Given the description of an element on the screen output the (x, y) to click on. 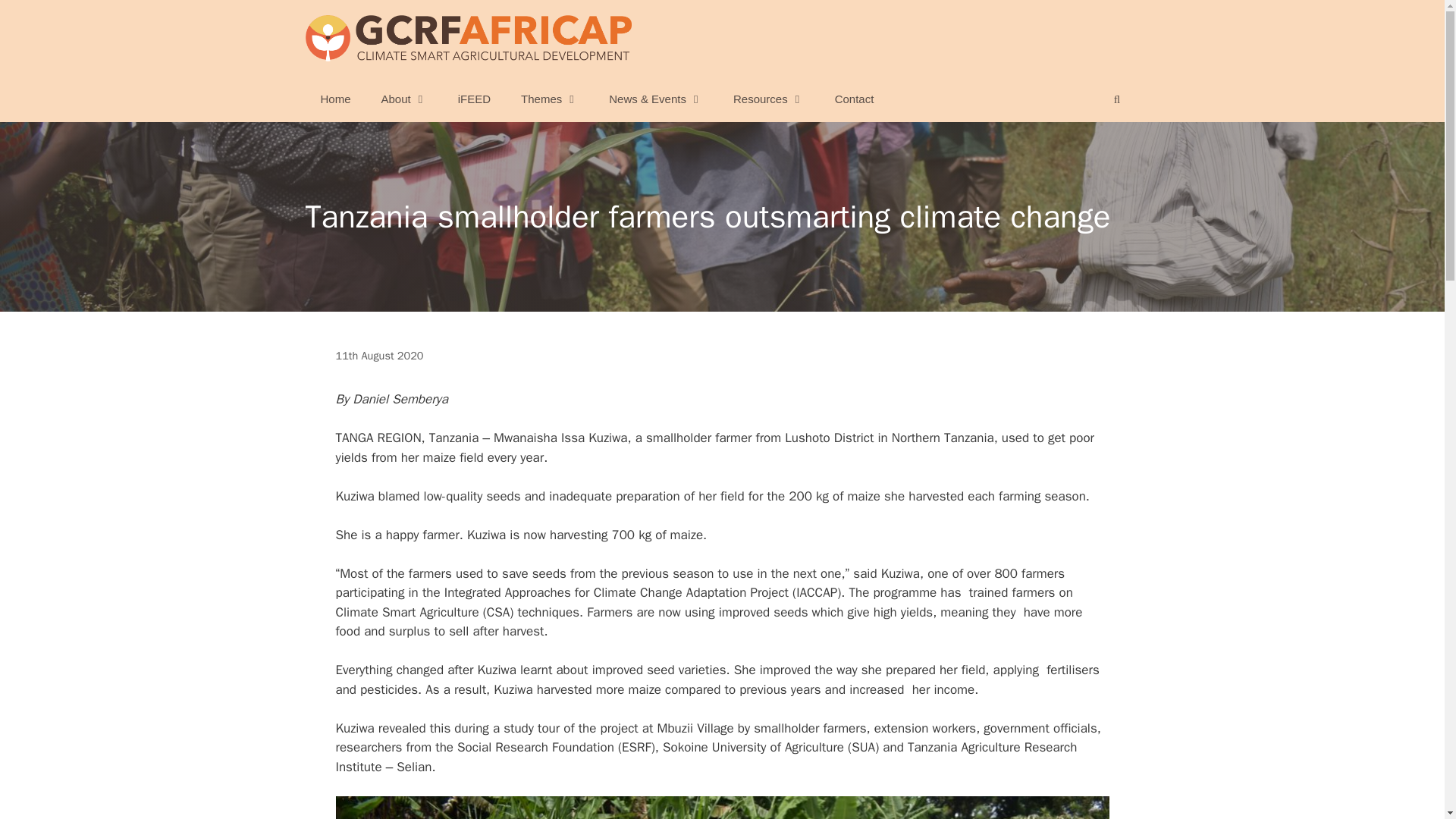
Contact (854, 99)
Themes (549, 99)
About (404, 99)
Resources (768, 99)
iFEED (473, 99)
Home (334, 99)
